Given the description of an element on the screen output the (x, y) to click on. 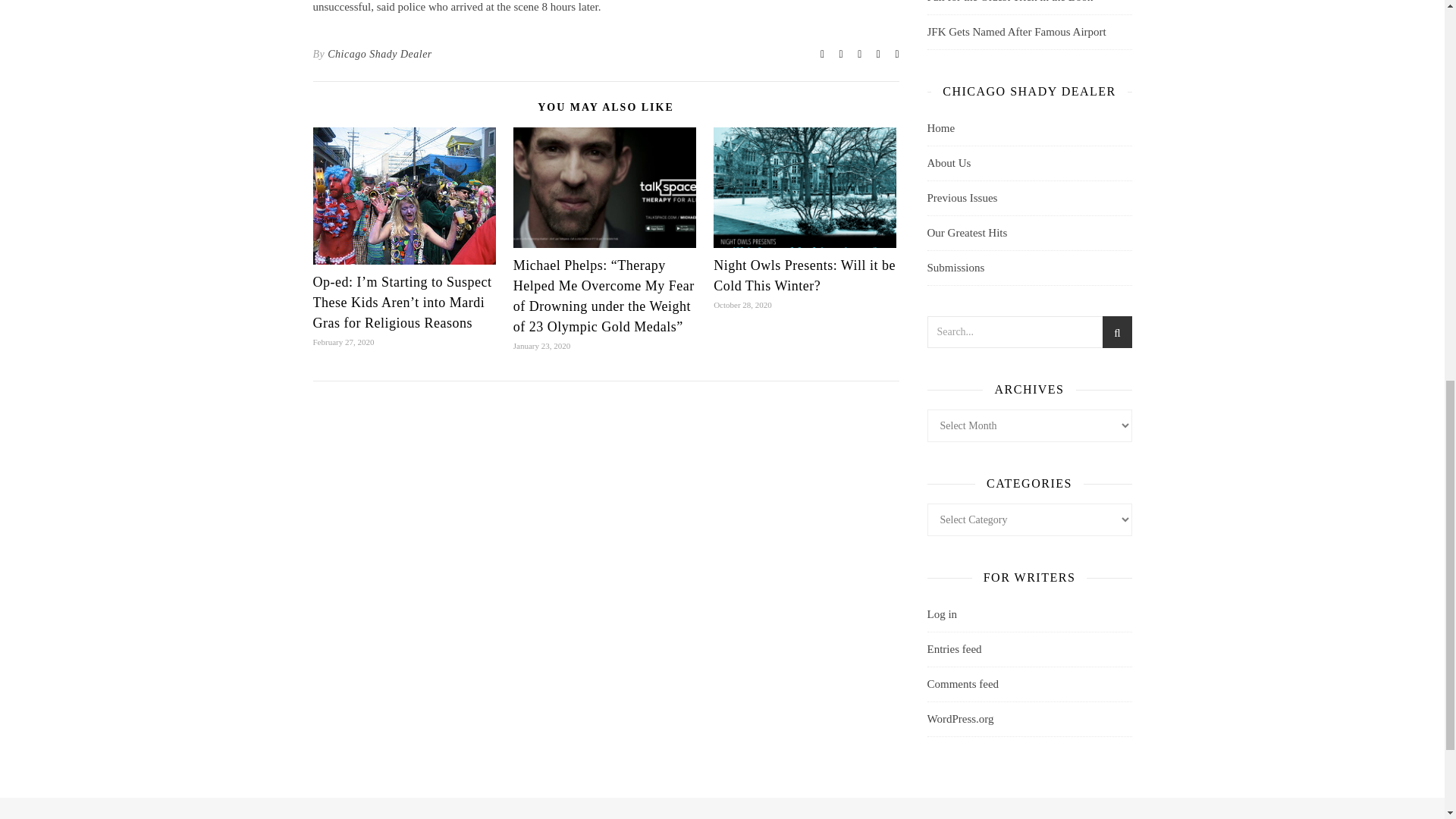
JFK Gets Named After Famous Airport (1015, 31)
Chicago Shady Dealer (379, 54)
Posts by Chicago Shady Dealer (379, 54)
Night Owls Presents: Will it be Cold This Winter? (804, 275)
